Given the description of an element on the screen output the (x, y) to click on. 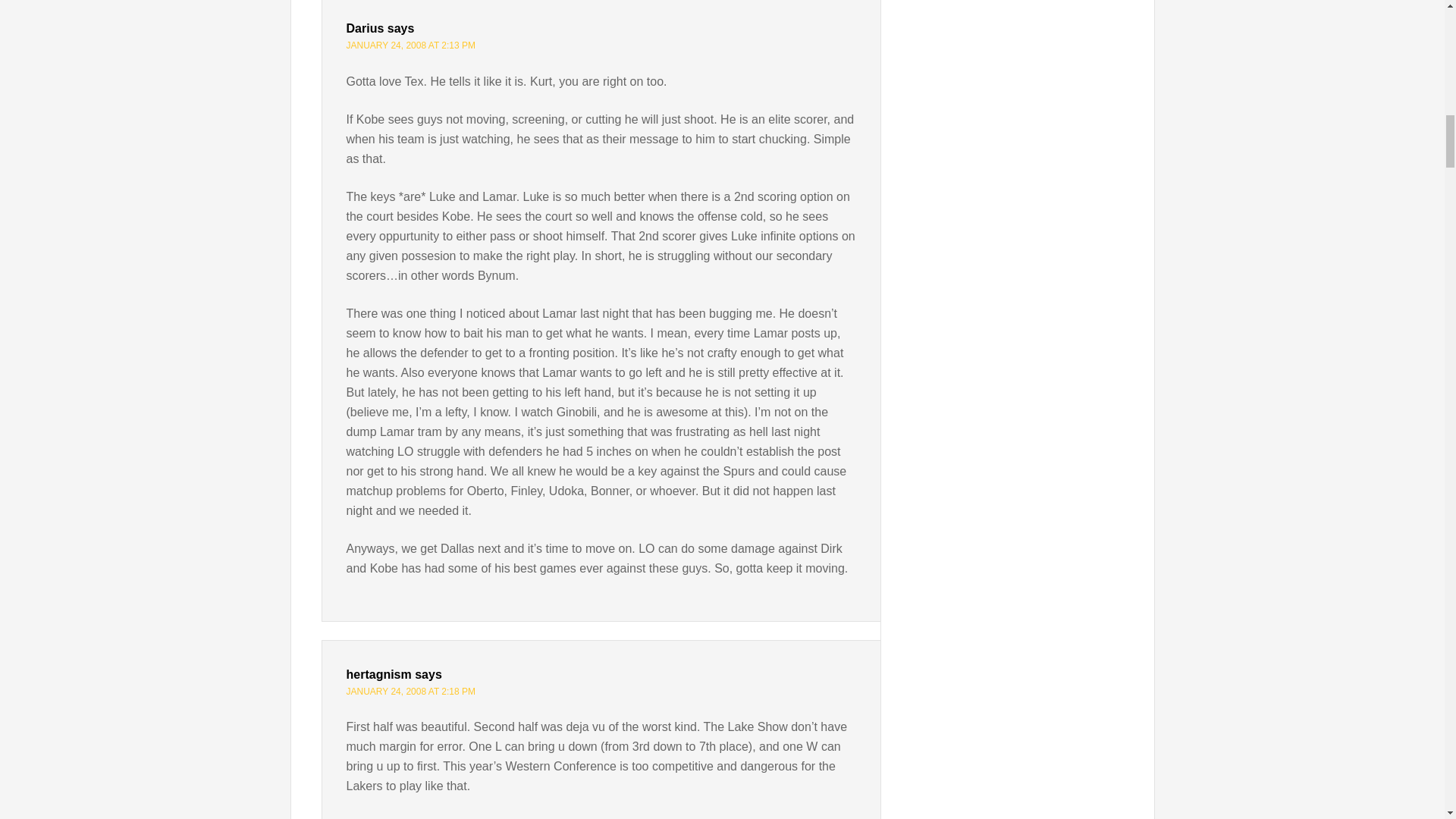
JANUARY 24, 2008 AT 2:13 PM (411, 45)
JANUARY 24, 2008 AT 2:18 PM (411, 691)
